Given the description of an element on the screen output the (x, y) to click on. 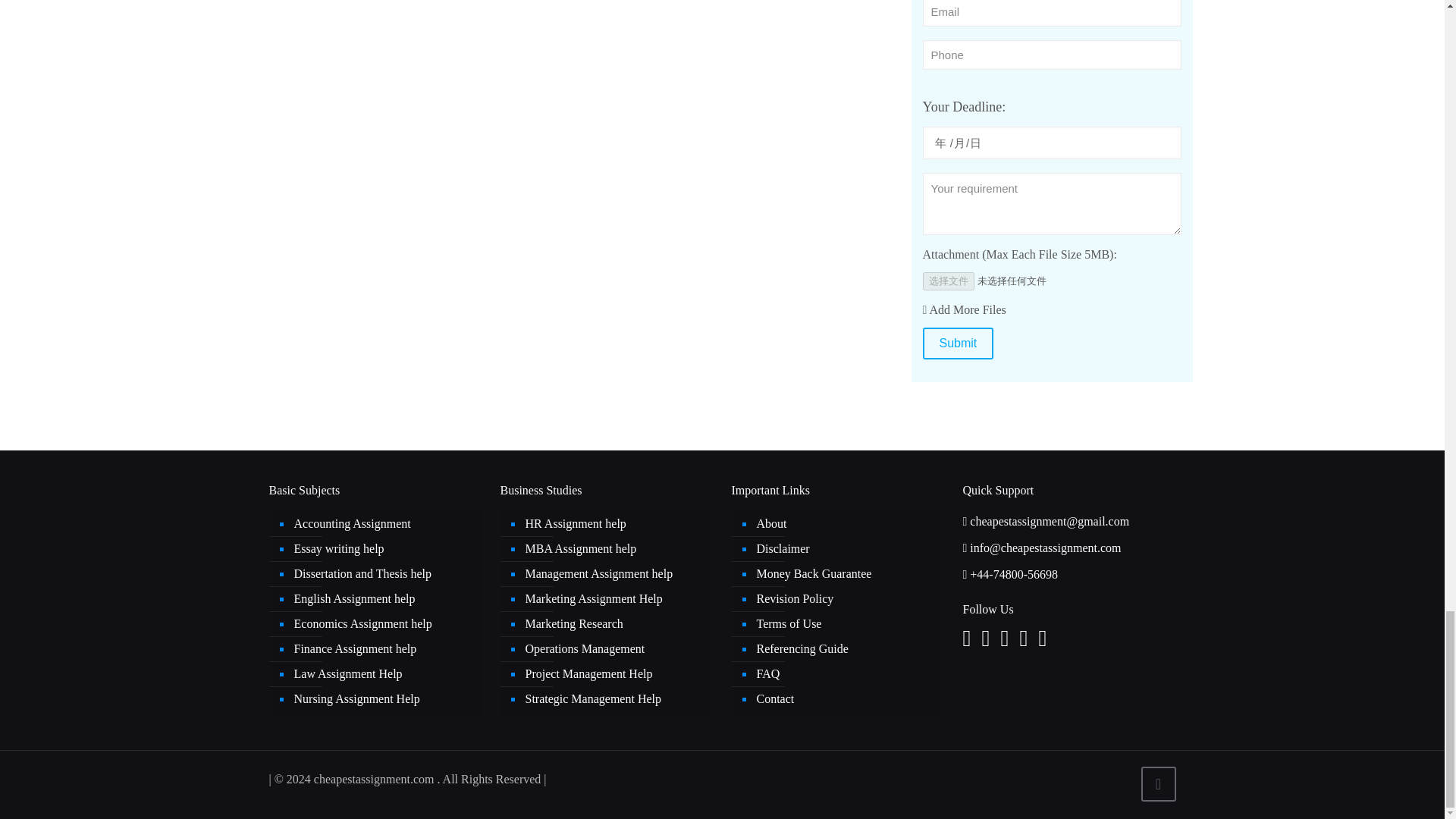
Submit (956, 343)
